Given the description of an element on the screen output the (x, y) to click on. 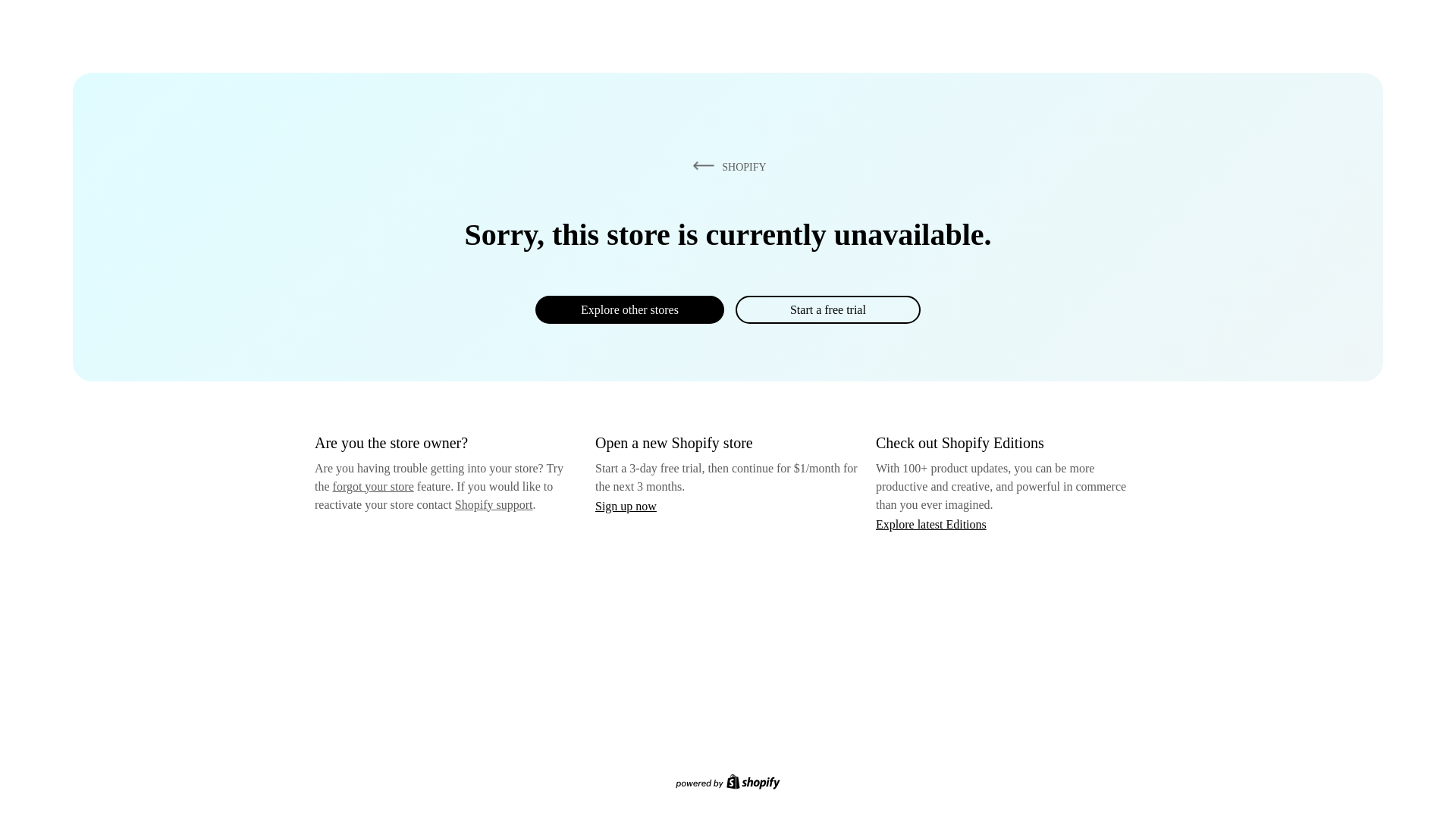
Shopify support (493, 504)
Start a free trial (827, 309)
Explore other stores (629, 309)
forgot your store (373, 486)
Explore latest Editions (931, 523)
SHOPIFY (726, 166)
Sign up now (625, 505)
